Given the description of an element on the screen output the (x, y) to click on. 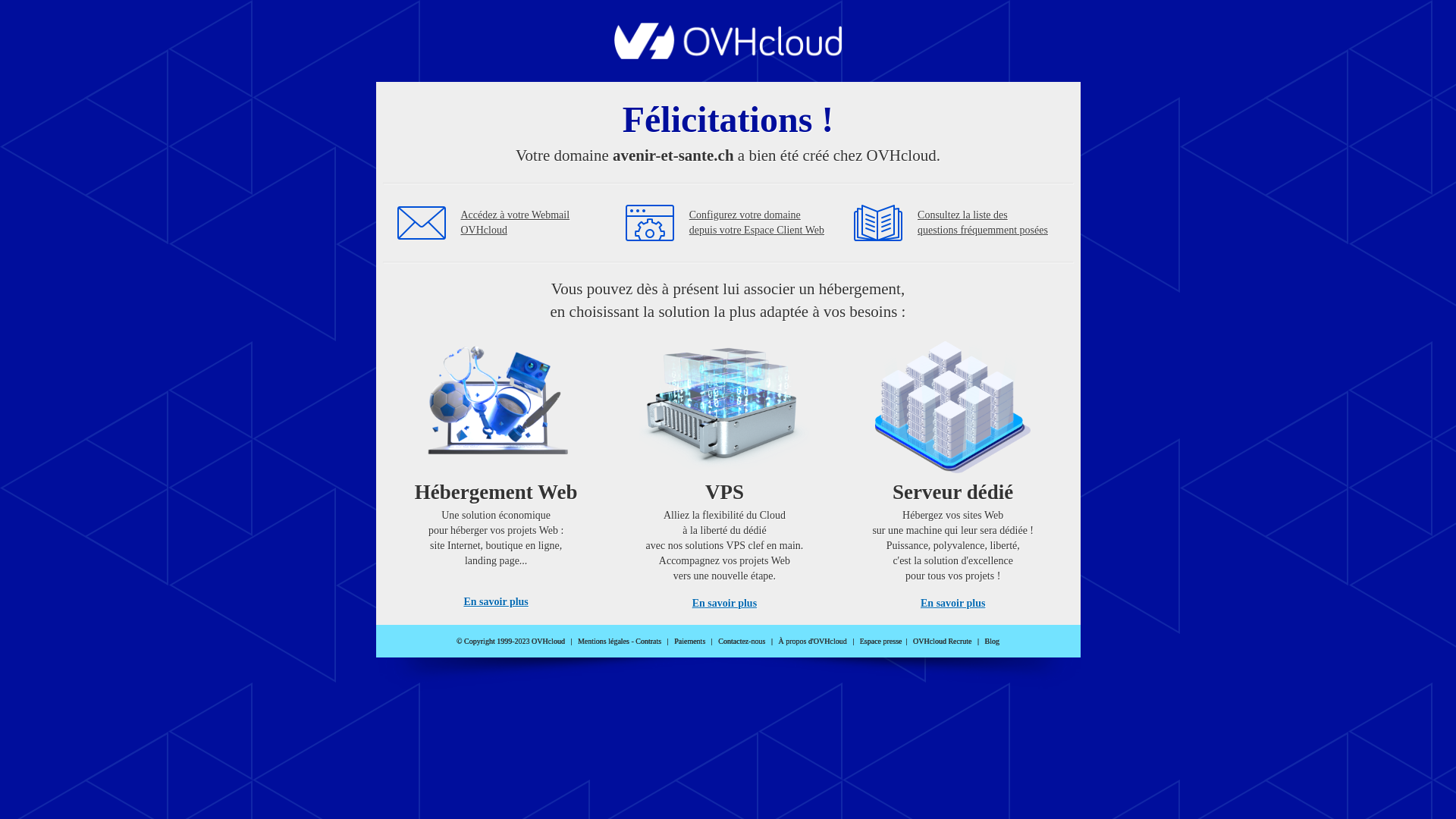
VPS Element type: hover (724, 469)
En savoir plus Element type: text (724, 602)
Paiements Element type: text (689, 641)
Contactez-nous Element type: text (741, 641)
OVHcloud Element type: hover (727, 54)
OVHcloud Recrute Element type: text (942, 641)
Espace presse Element type: text (880, 641)
Blog Element type: text (992, 641)
En savoir plus Element type: text (952, 602)
En savoir plus Element type: text (495, 601)
Configurez votre domaine
depuis votre Espace Client Web Element type: text (756, 222)
